Given the description of an element on the screen output the (x, y) to click on. 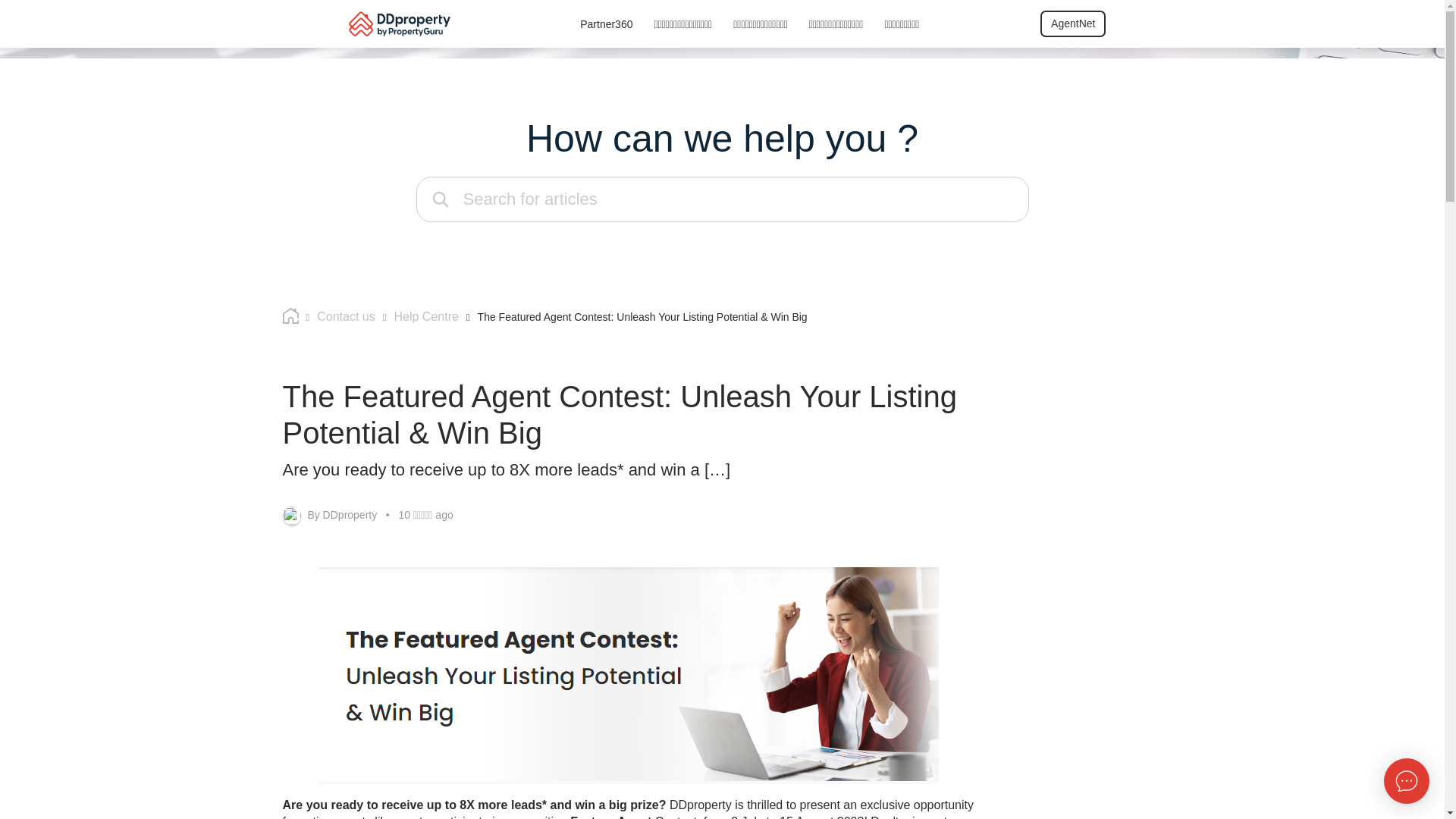
Contact us (329, 314)
Help Centre (409, 314)
AgentNet (1073, 23)
Partner360 (605, 24)
